Given the description of an element on the screen output the (x, y) to click on. 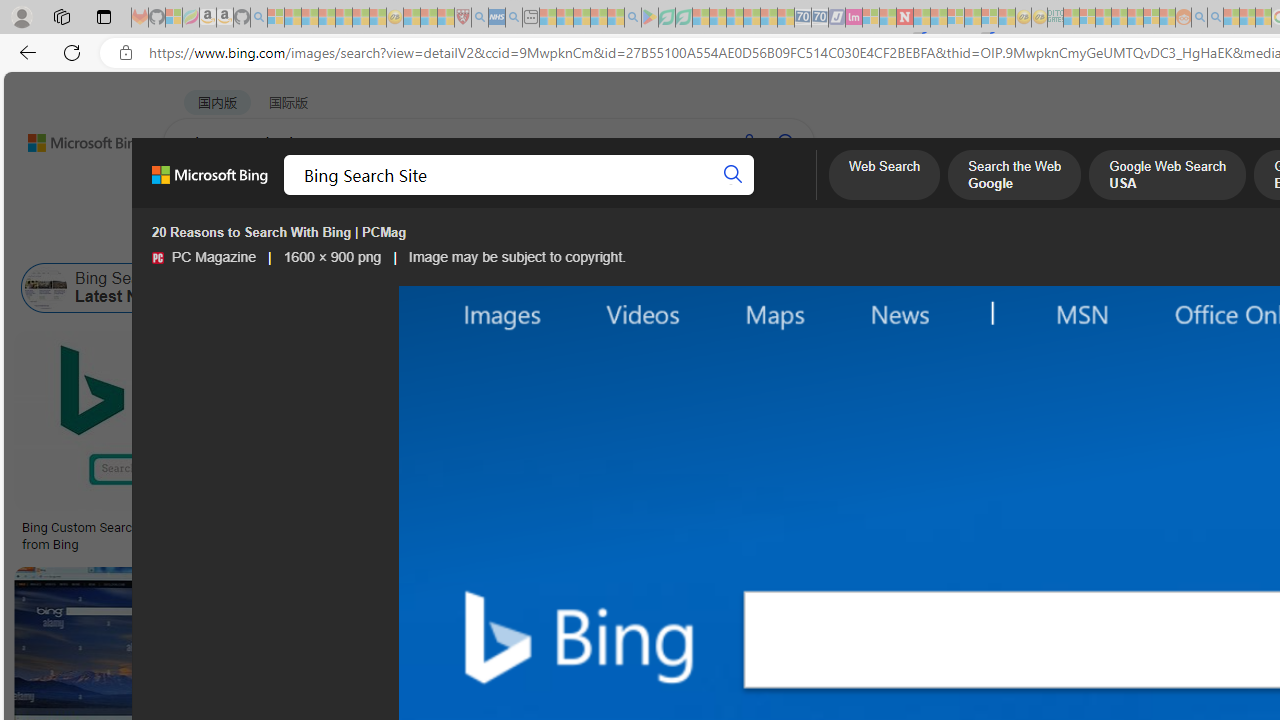
Pets - MSN - Sleeping (598, 17)
WEB (201, 195)
ACADEMIC (635, 195)
Bing Search Terms (1081, 287)
Bing Searches Today (438, 287)
Layout (443, 237)
Microsoft Bing Search (1195, 287)
Class: b_pri_nav_svg (423, 196)
Class: item col (1081, 287)
Bing Search Latest News (45, 287)
ACADEMIC (635, 195)
Bing Advanced Search Tricks You Should KnowSave (813, 444)
